Given the description of an element on the screen output the (x, y) to click on. 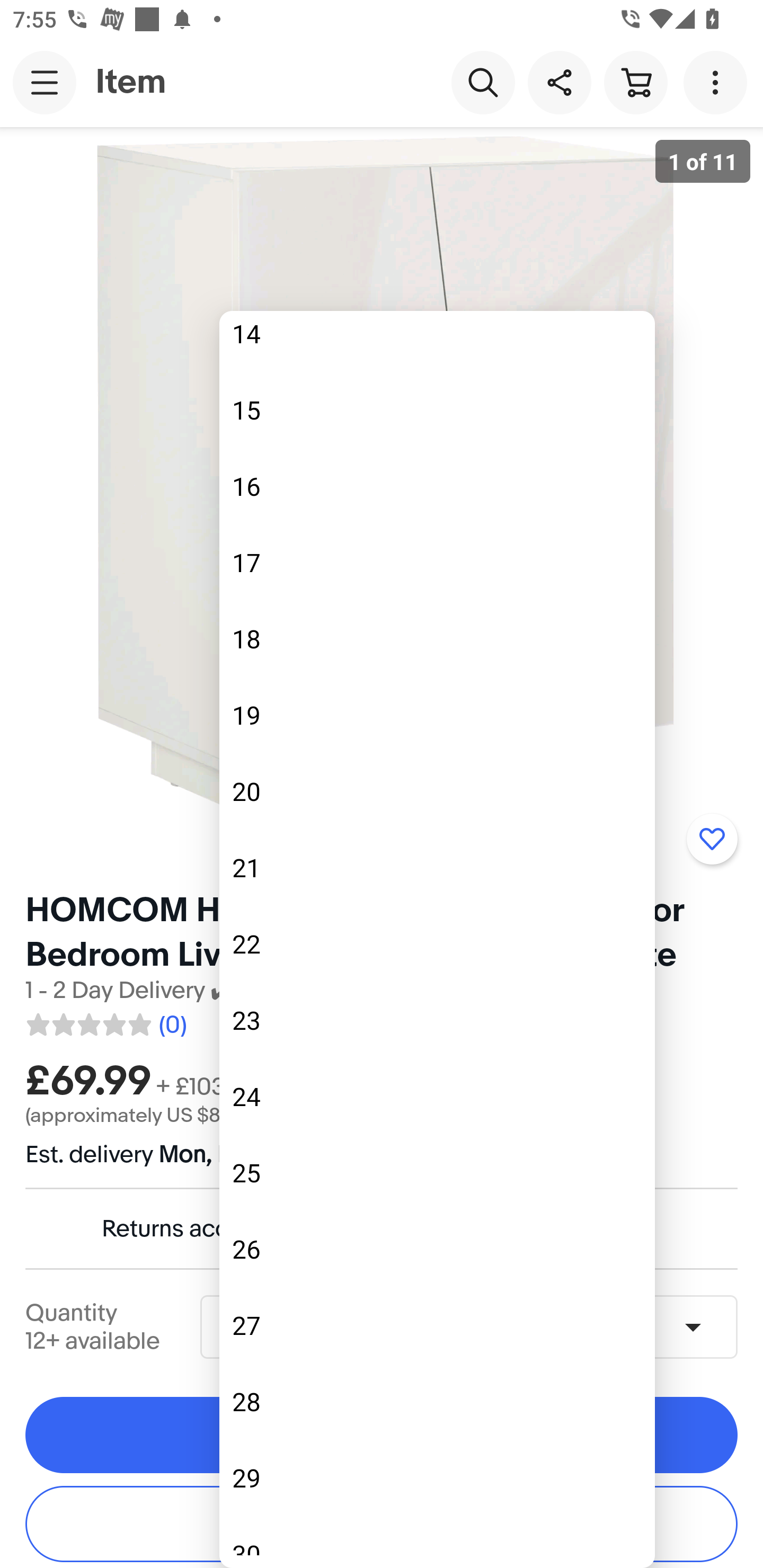
14 (436, 347)
15 (436, 409)
16 (436, 485)
17 (436, 561)
18 (436, 638)
19 (436, 714)
20 (436, 790)
21 (436, 867)
22 (436, 943)
23 (436, 1019)
24 (436, 1096)
25 (436, 1172)
26 (436, 1248)
27 (436, 1325)
28 (436, 1401)
29 (436, 1477)
